Given the description of an element on the screen output the (x, y) to click on. 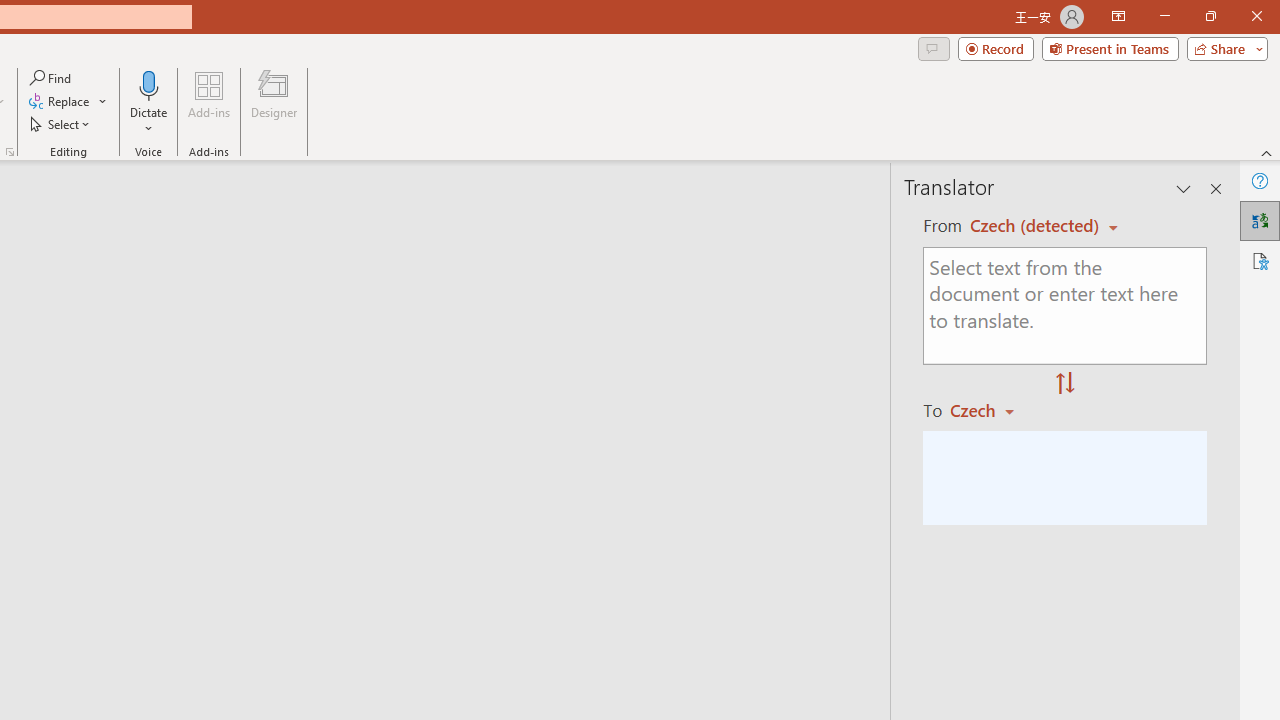
Present in Teams (1109, 48)
Dictate (149, 102)
Task Pane Options (1183, 188)
Close (1256, 16)
Share (1223, 48)
Minimize (1164, 16)
Close pane (1215, 188)
Swap "from" and "to" languages. (1065, 383)
Format Object... (9, 151)
Comments (933, 48)
Accessibility (1260, 260)
Translator (1260, 220)
Designer (274, 102)
